Given the description of an element on the screen output the (x, y) to click on. 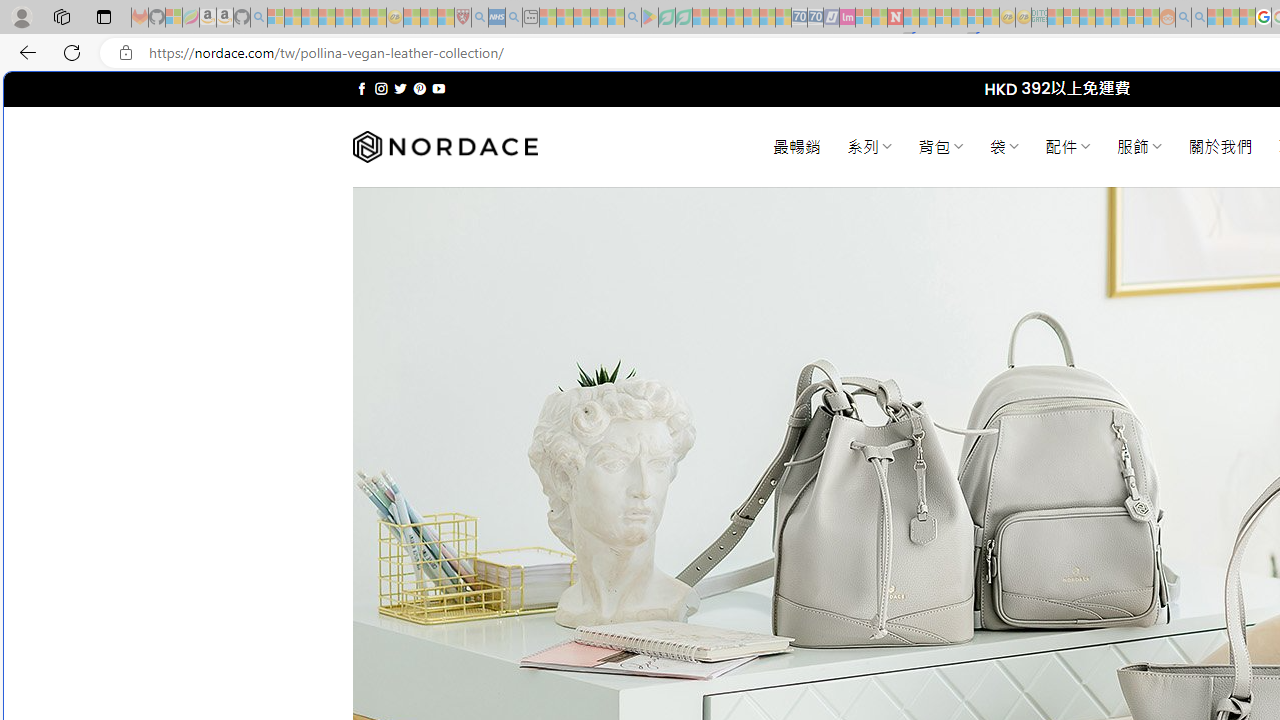
Follow on Facebook (361, 88)
Follow on YouTube (438, 88)
Utah sues federal government - Search - Sleeping (1199, 17)
Kinda Frugal - MSN - Sleeping (1119, 17)
Latest Politics News & Archive | Newsweek.com - Sleeping (895, 17)
Workspaces (61, 16)
NCL Adult Asthma Inhaler Choice Guideline - Sleeping (497, 17)
